Given the description of an element on the screen output the (x, y) to click on. 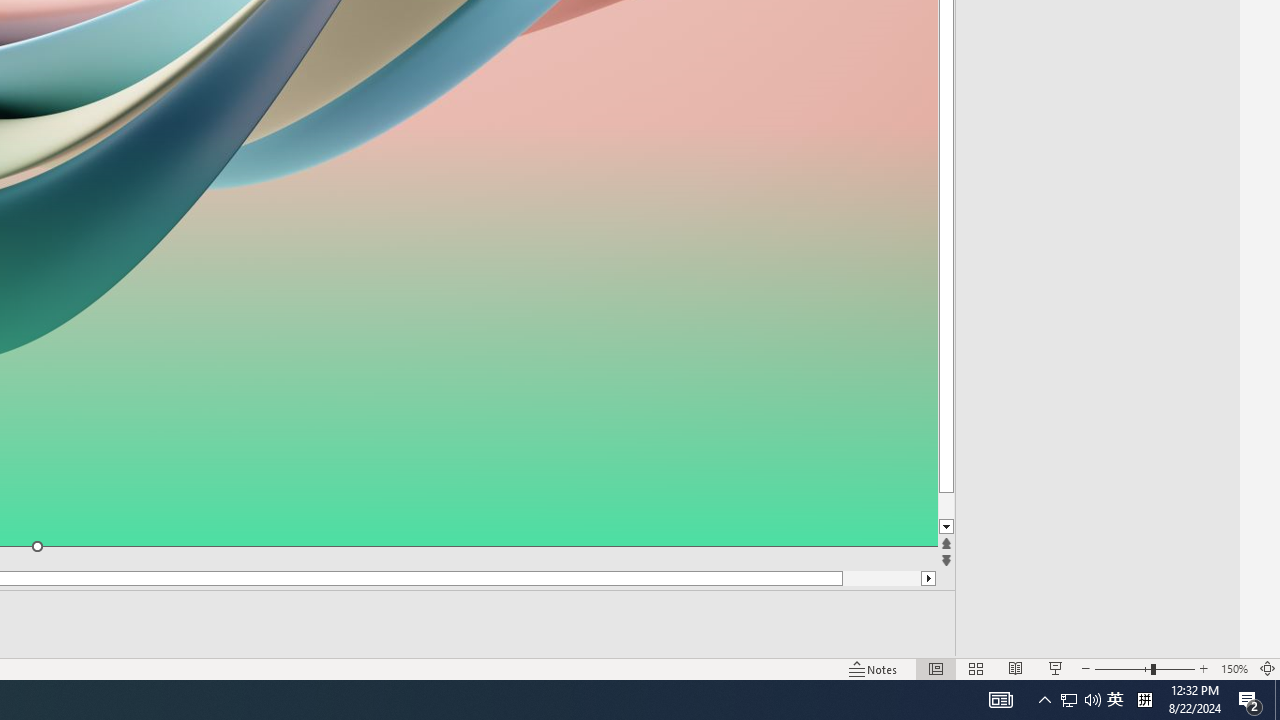
Zoom 150% (1234, 668)
